Given the description of an element on the screen output the (x, y) to click on. 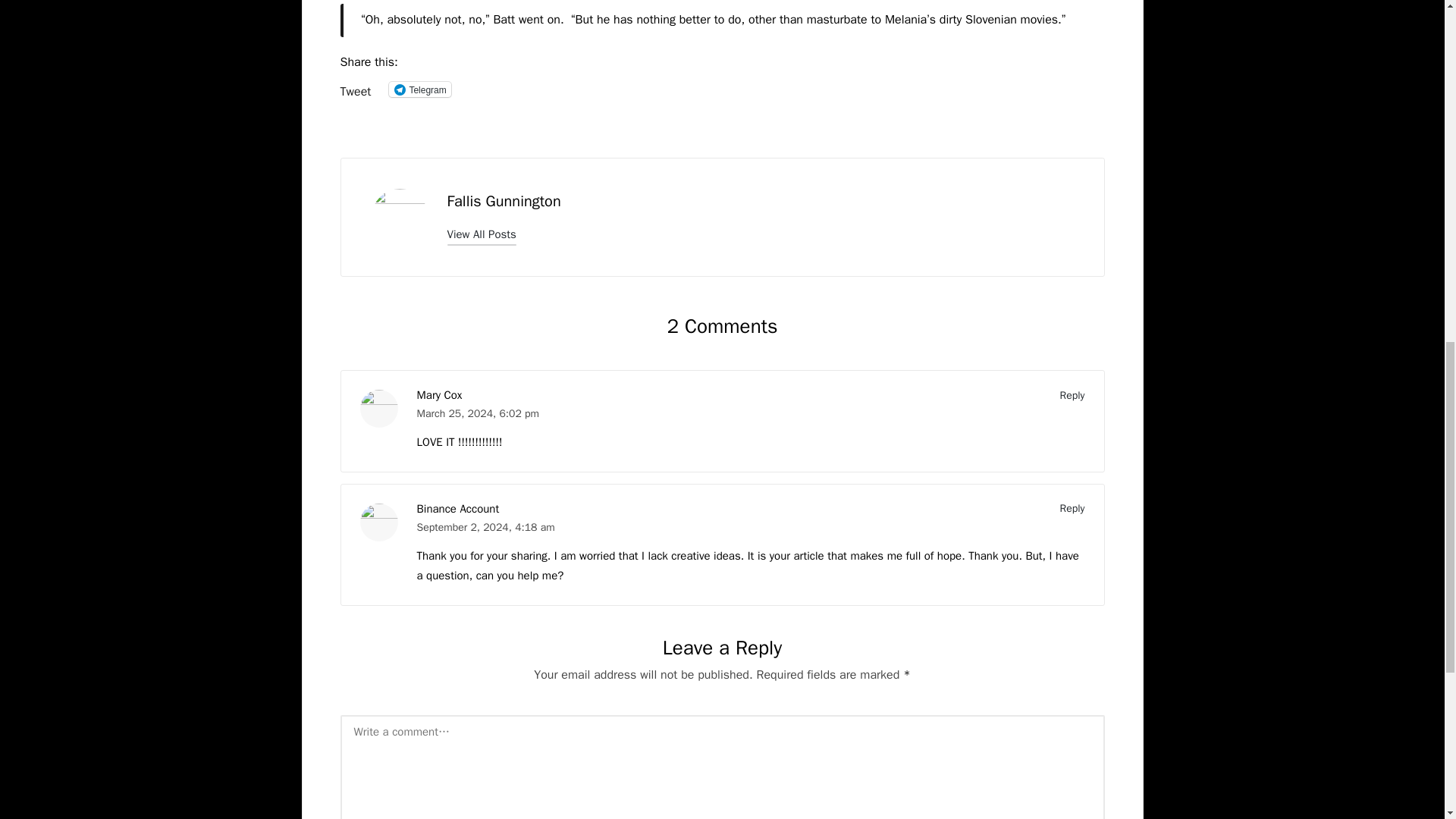
Binance Account (457, 508)
Telegram (418, 89)
Tweet (355, 88)
Click to share on Telegram (418, 89)
6:02 pm (518, 413)
Reply (1071, 394)
View All Posts (481, 234)
Fallis Gunnington (503, 200)
Reply (1071, 508)
4:18 am (534, 526)
